Given the description of an element on the screen output the (x, y) to click on. 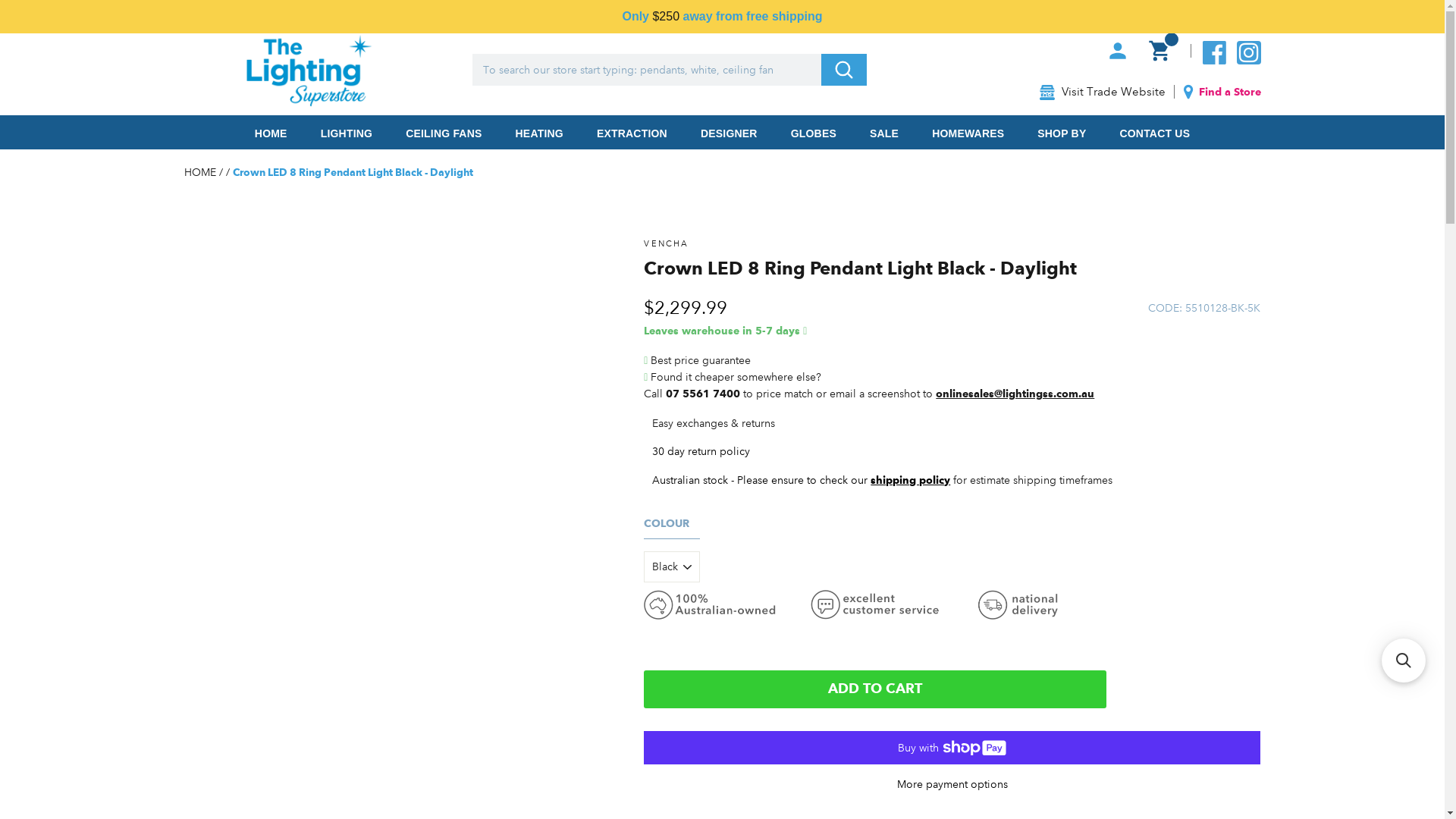
Search Element type: text (843, 69)
shipping policy Element type: text (910, 479)
Cart Element type: text (1159, 51)
EXTRACTION Element type: text (631, 132)
Login To Trade Account Element type: text (1218, 11)
Skip to content Element type: text (0, 0)
GLOBES Element type: text (813, 132)
LIGHTING Element type: text (346, 132)
CEILING FANS Element type: text (443, 132)
onlinesales@lightingss.com.au Element type: text (1014, 393)
More payment options Element type: text (951, 784)
ADD TO CART Element type: text (874, 689)
HEATING Element type: text (539, 132)
CONTACT US Element type: text (1154, 132)
DESIGNER Element type: text (728, 132)
HOME Element type: text (200, 171)
HOME Element type: text (270, 132)
Log in Element type: text (1117, 51)
HOMEWARES Element type: text (967, 132)
Find a Store Element type: text (1217, 91)
SHOP BY Element type: text (1061, 132)
SALE Element type: text (883, 132)
